Given the description of an element on the screen output the (x, y) to click on. 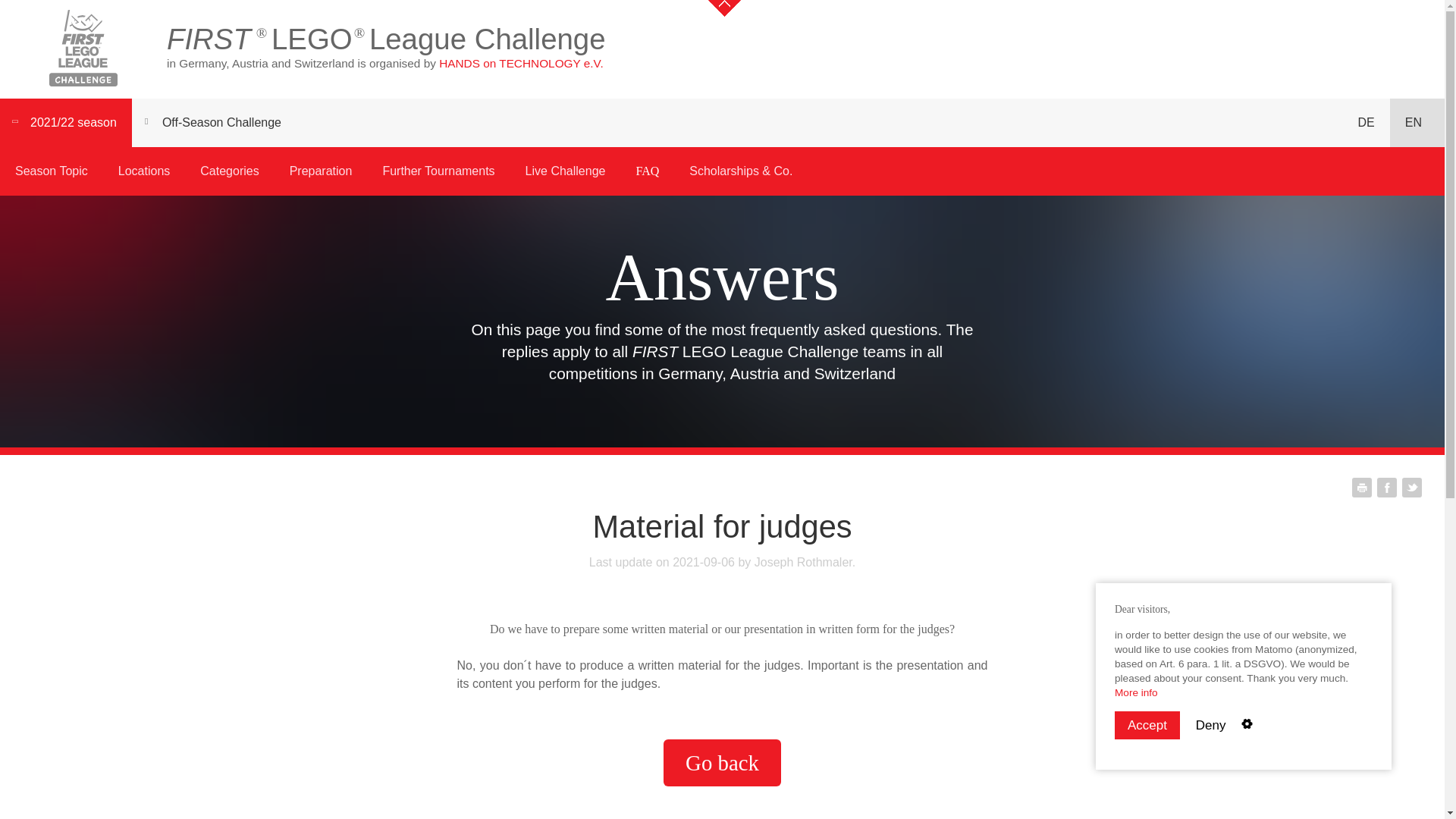
DE (1366, 122)
